Given the description of an element on the screen output the (x, y) to click on. 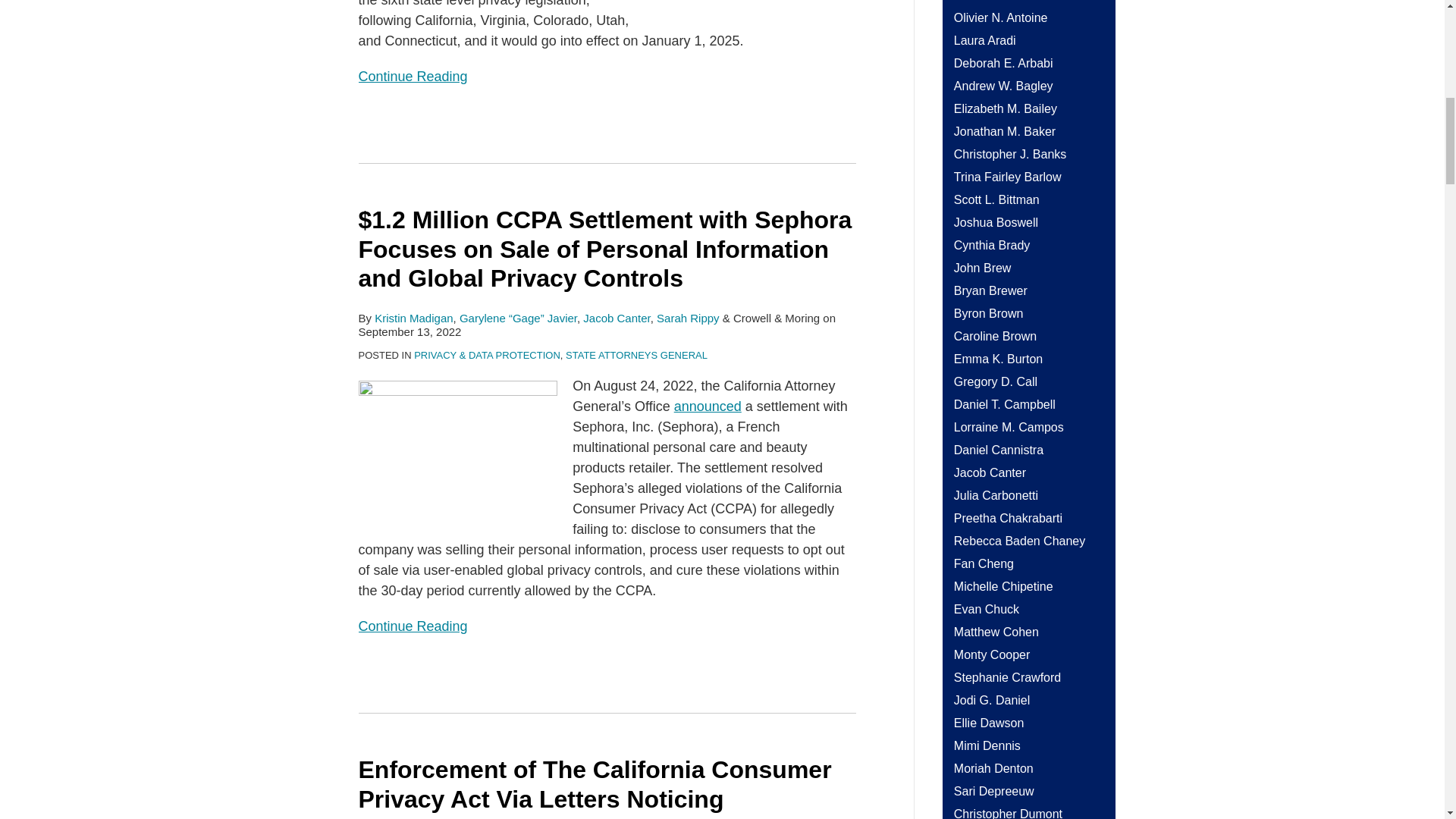
Sarah Rippy (687, 318)
Jacob Canter (616, 318)
STATE ATTORNEYS GENERAL (636, 355)
Kristin Madigan (413, 318)
announced (707, 406)
